Given the description of an element on the screen output the (x, y) to click on. 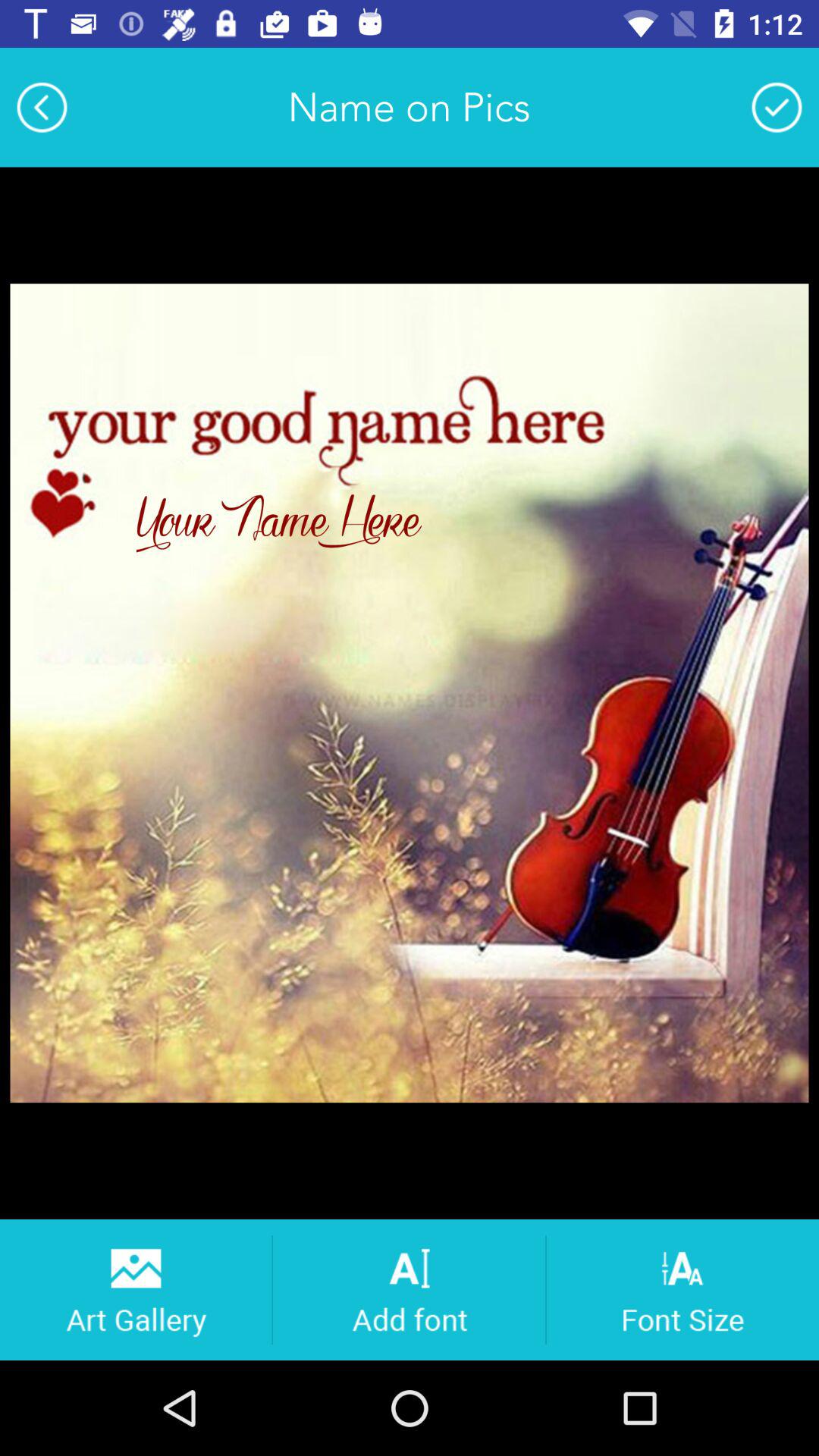
choose app to the right of the name on pics app (776, 107)
